Given the description of an element on the screen output the (x, y) to click on. 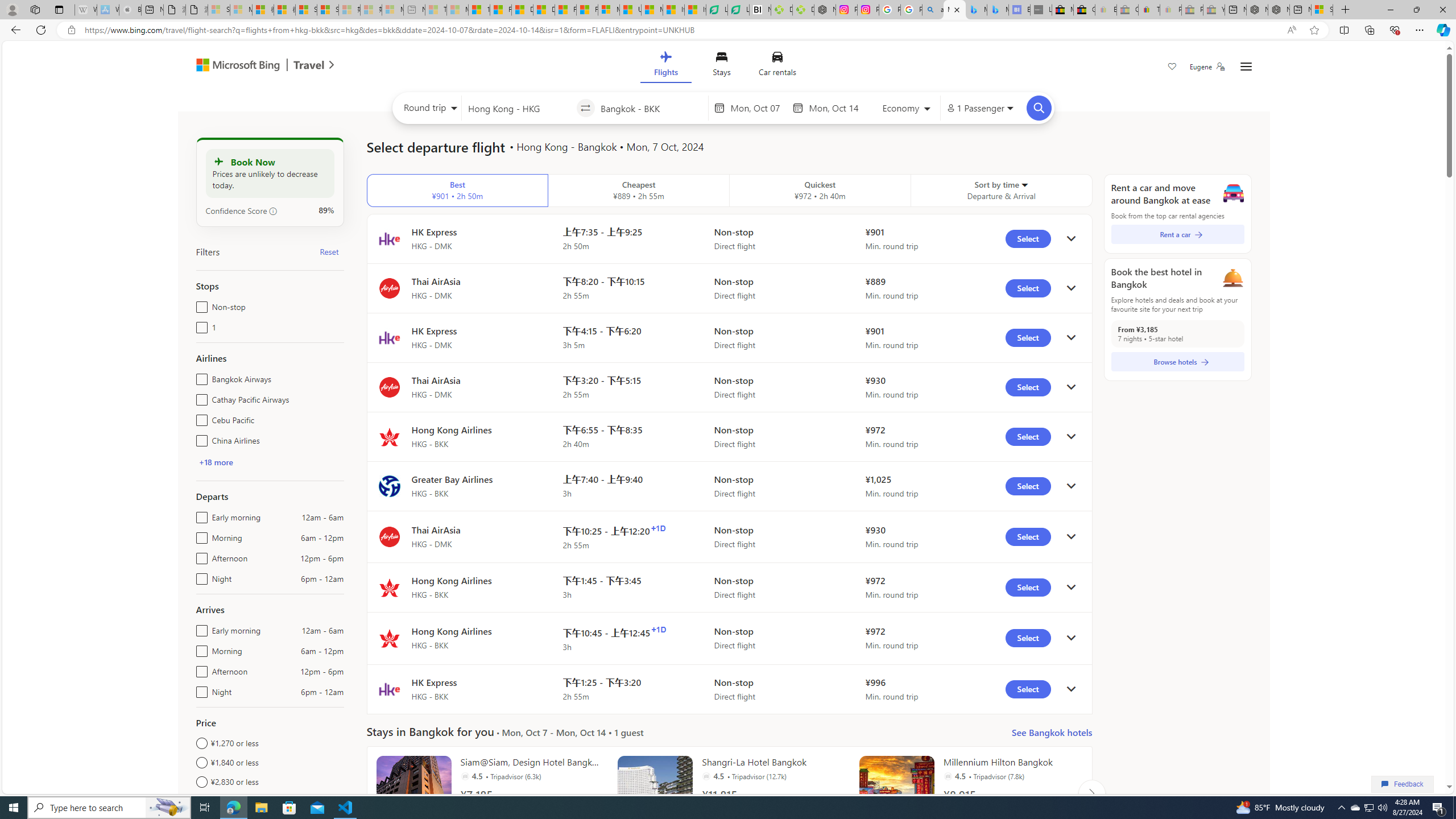
Reset (328, 251)
Drinking tea every day is proven to delay biological aging (543, 9)
Microsoft Bing Travel - Flights from Hong Kong to Bangkok (954, 9)
Eugene (1206, 66)
Press Room - eBay Inc. - Sleeping (1192, 9)
